Given the description of an element on the screen output the (x, y) to click on. 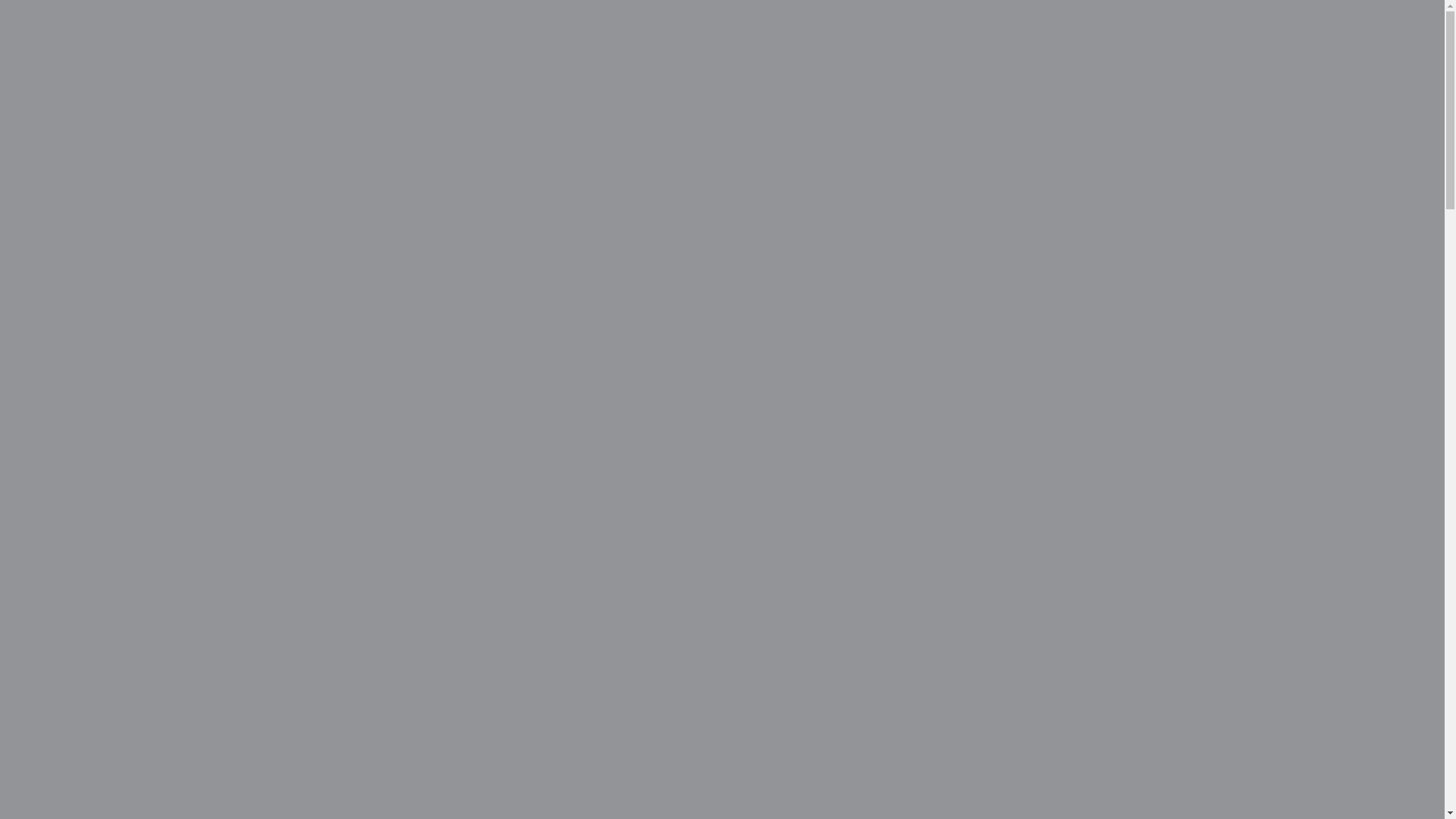
My Library Element type: text (169, 35)
Sign up to stay in the know Element type: text (140, 709)
Blog Element type: text (303, 35)
Foundation Element type: text (1398, 11)
About Element type: text (34, 35)
Courses Element type: text (1193, 11)
Results Element type: text (95, 35)
Tarangau Element type: text (1322, 11)
Contact Element type: text (243, 35)
Coaching Element type: text (1123, 11)
Safari Element type: text (1256, 11)
